Given the description of an element on the screen output the (x, y) to click on. 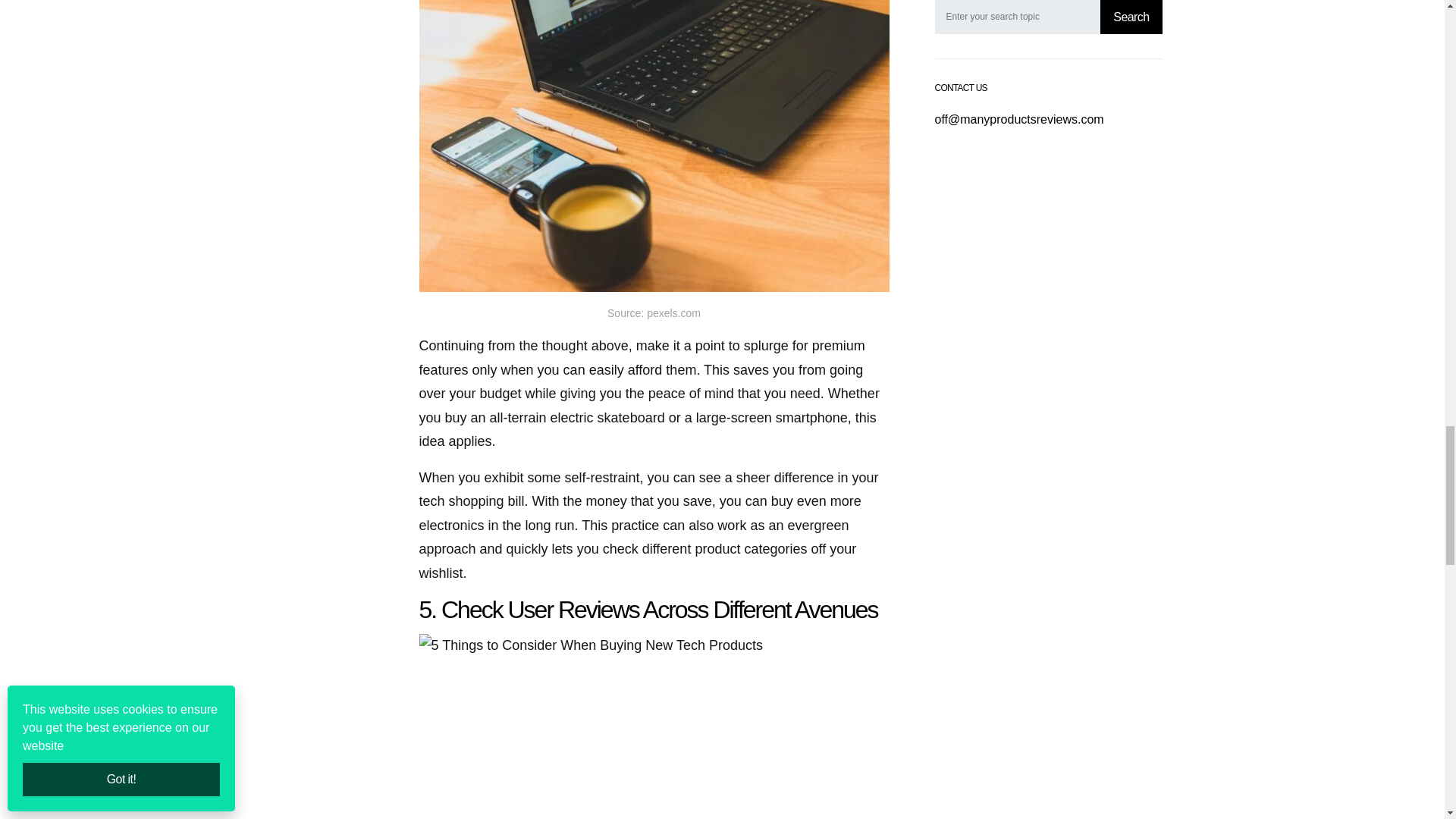
5 Things to Consider When Buying New Tech Products (653, 726)
